Given the description of an element on the screen output the (x, y) to click on. 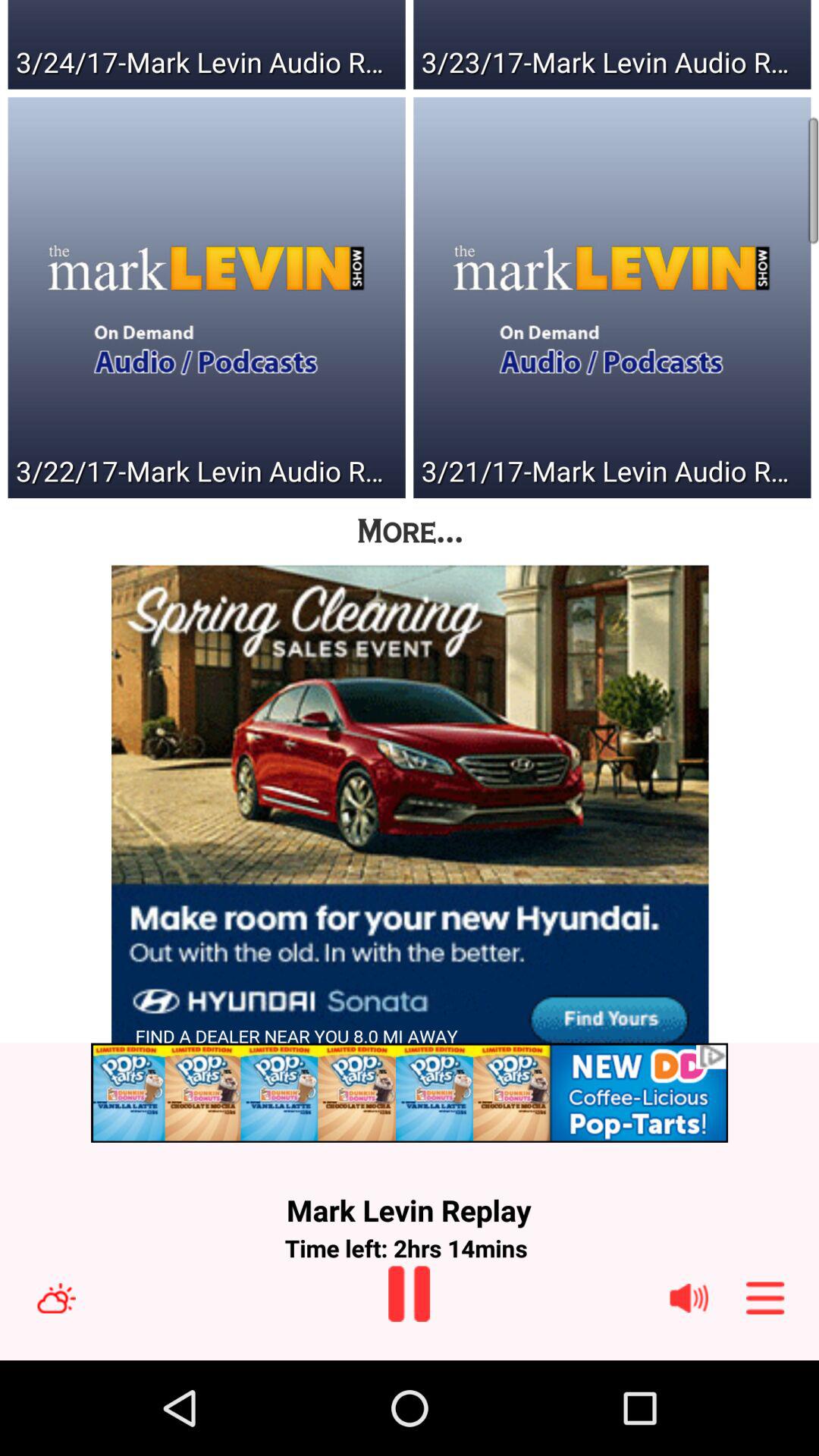
speaker icon (688, 1298)
